Given the description of an element on the screen output the (x, y) to click on. 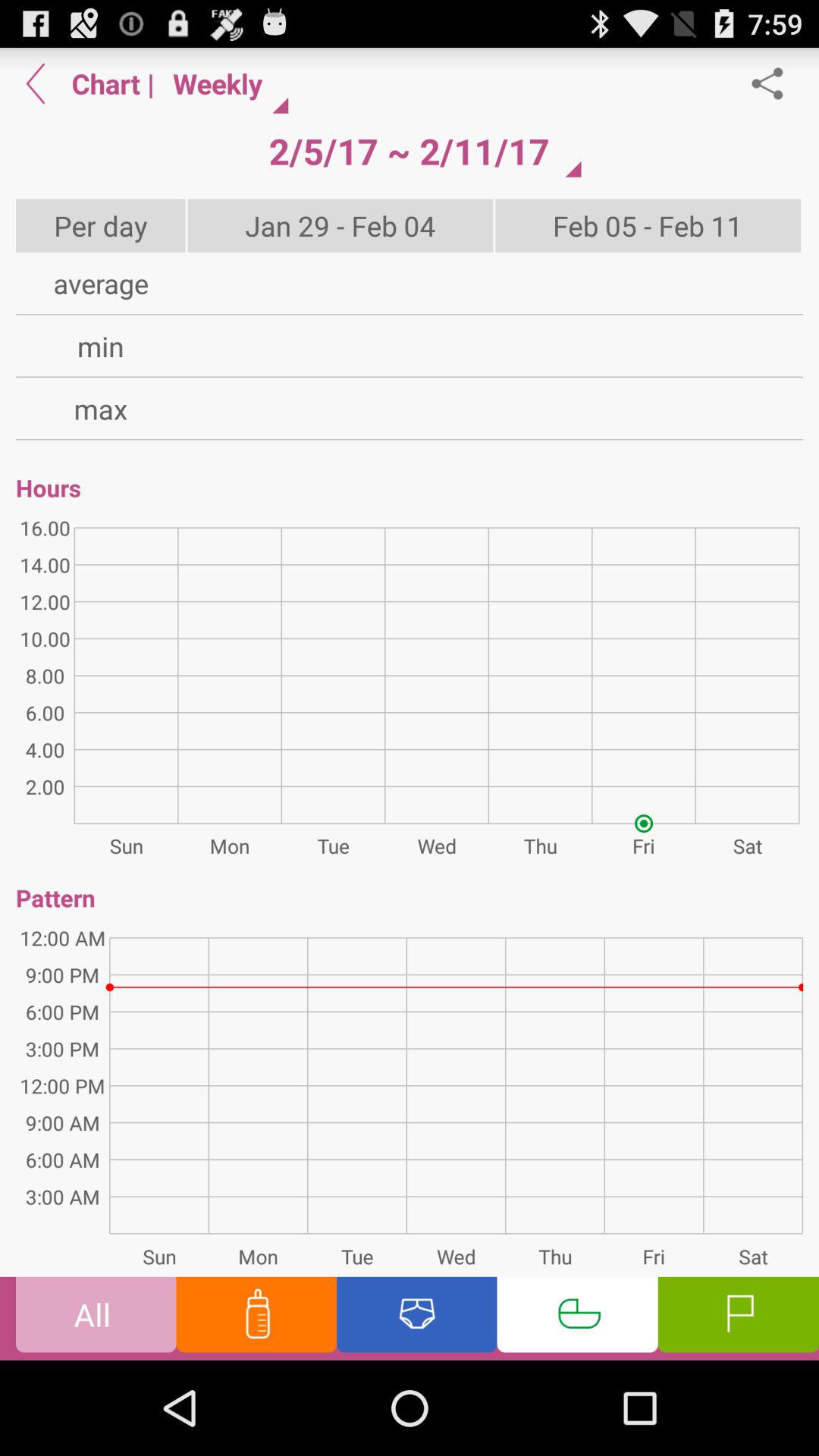
choose icon next to  |  icon (409, 151)
